Given the description of an element on the screen output the (x, y) to click on. 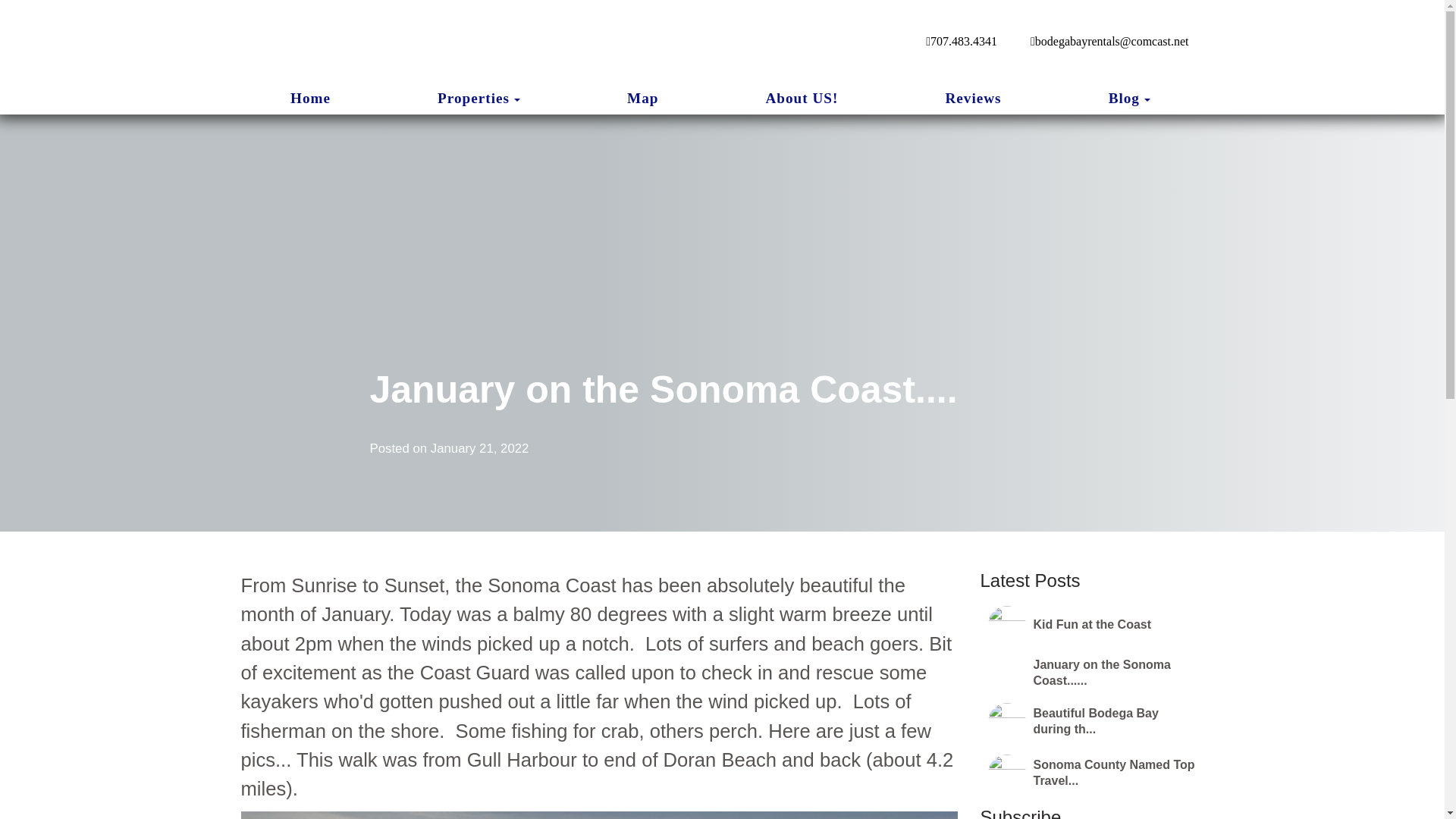
Reviews (972, 98)
Map (642, 98)
Blog (1124, 98)
Bodega Bay Rentals, LLC (481, 41)
707.483.4341 (961, 41)
Properties (473, 98)
Home (309, 98)
About US! (801, 98)
